Given the description of an element on the screen output the (x, y) to click on. 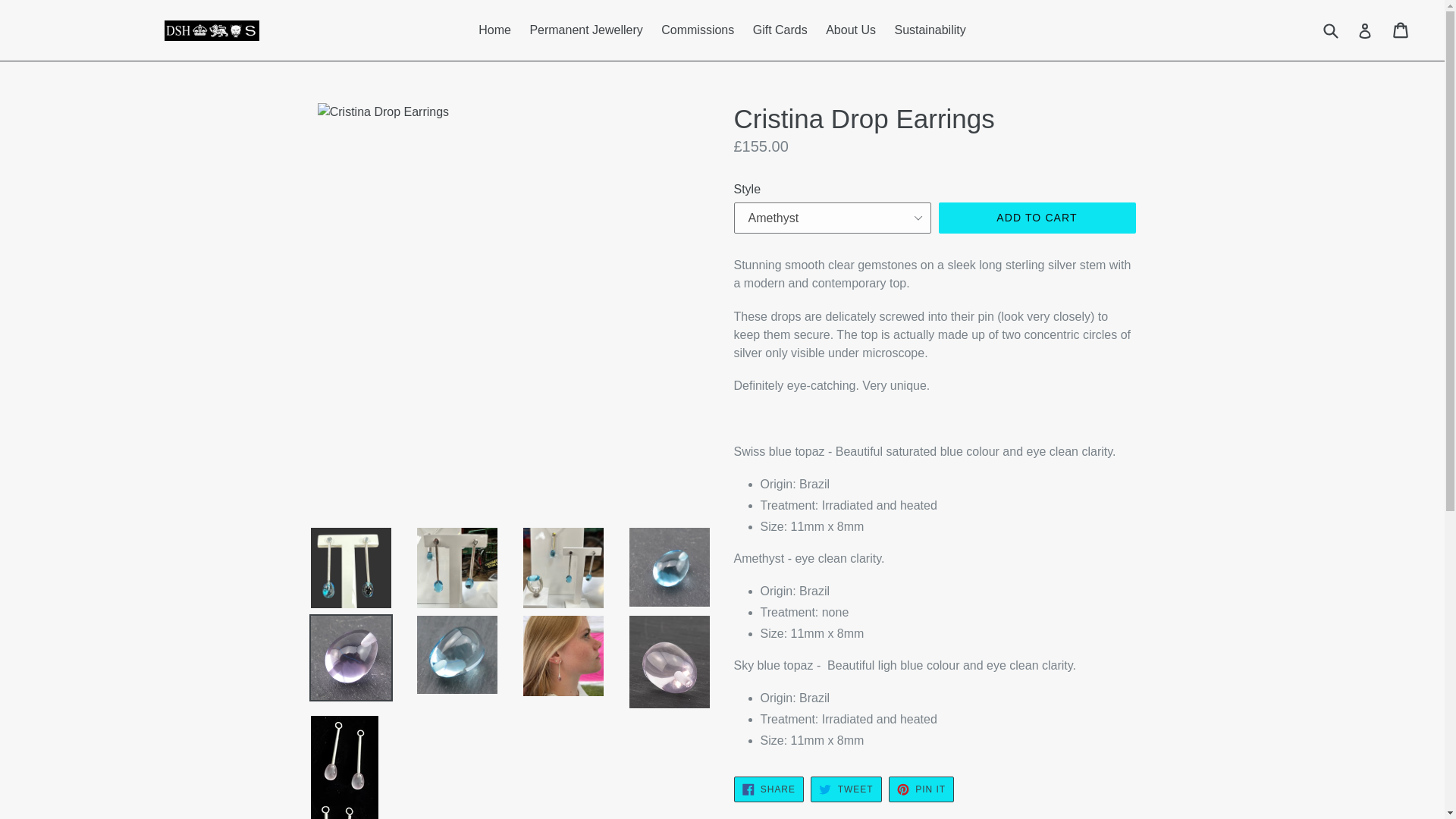
Share on Facebook (768, 789)
Sustainability (929, 29)
Tweet on Twitter (845, 789)
About Us (850, 29)
Commissions (845, 789)
Gift Cards (920, 789)
Pin on Pinterest (697, 29)
